Given the description of an element on the screen output the (x, y) to click on. 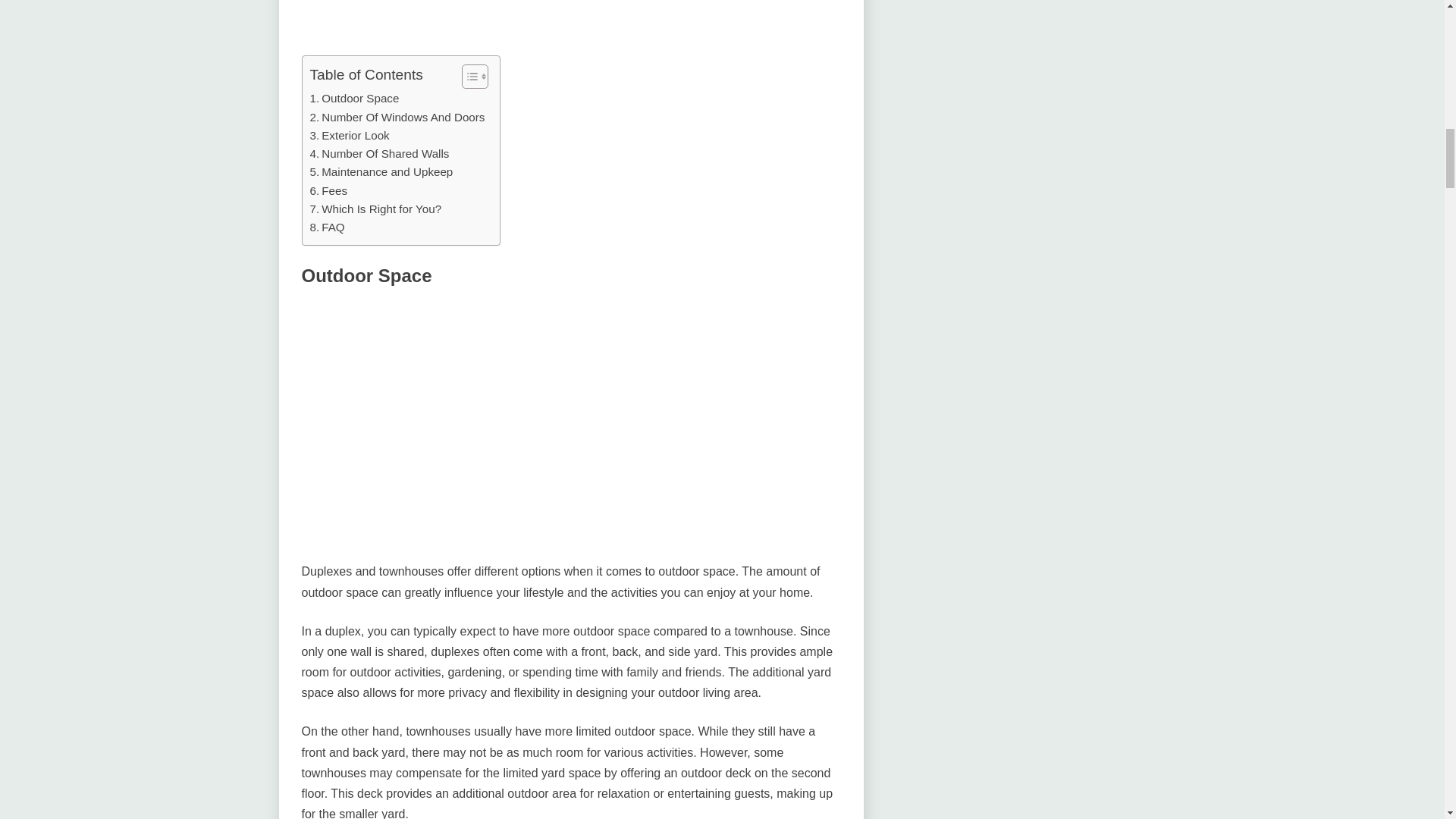
Exterior Look (348, 135)
Fees (327, 190)
Maintenance and Upkeep (380, 171)
Fees (327, 190)
Number Of Windows And Doors (396, 117)
Exterior Look (348, 135)
Maintenance and Upkeep (380, 171)
Outdoor Space (353, 98)
Number Of Shared Walls (378, 153)
FAQ (325, 227)
